Given the description of an element on the screen output the (x, y) to click on. 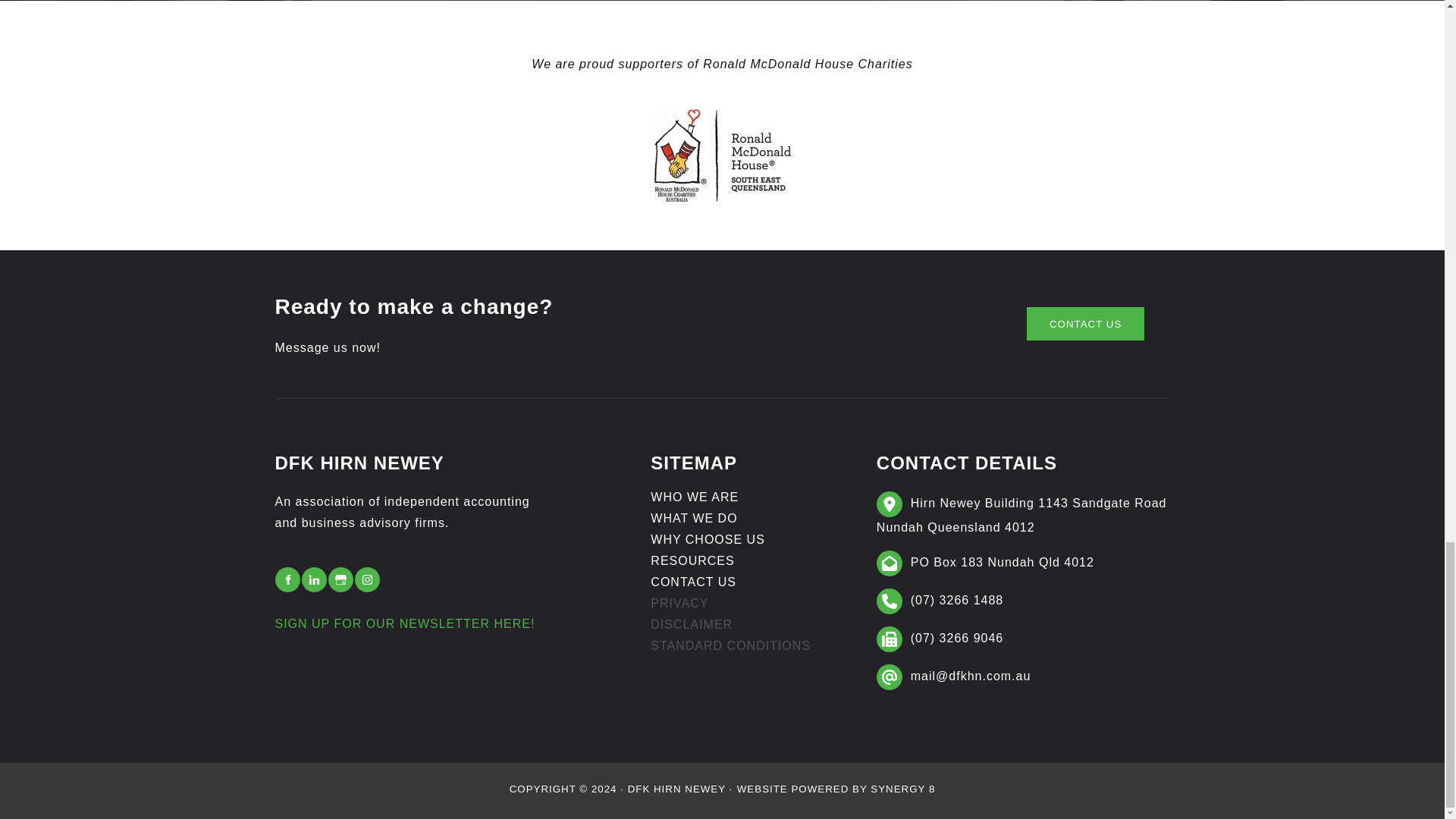
LinkedIn (313, 579)
Instagram (367, 579)
Facebook (287, 579)
Google My Business (339, 579)
